Given the description of an element on the screen output the (x, y) to click on. 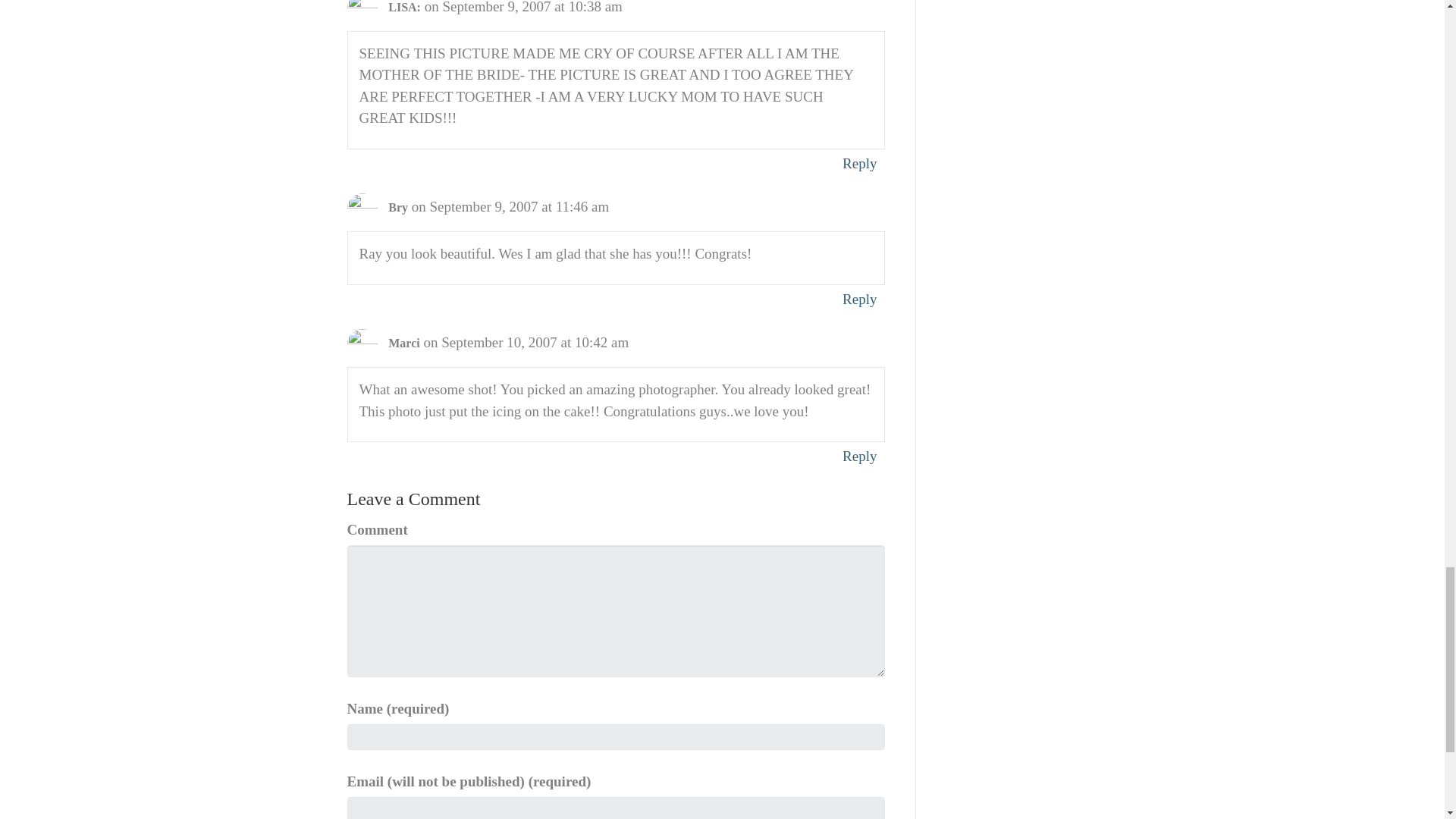
Reply (859, 455)
Reply (859, 163)
Reply (859, 299)
